Given the description of an element on the screen output the (x, y) to click on. 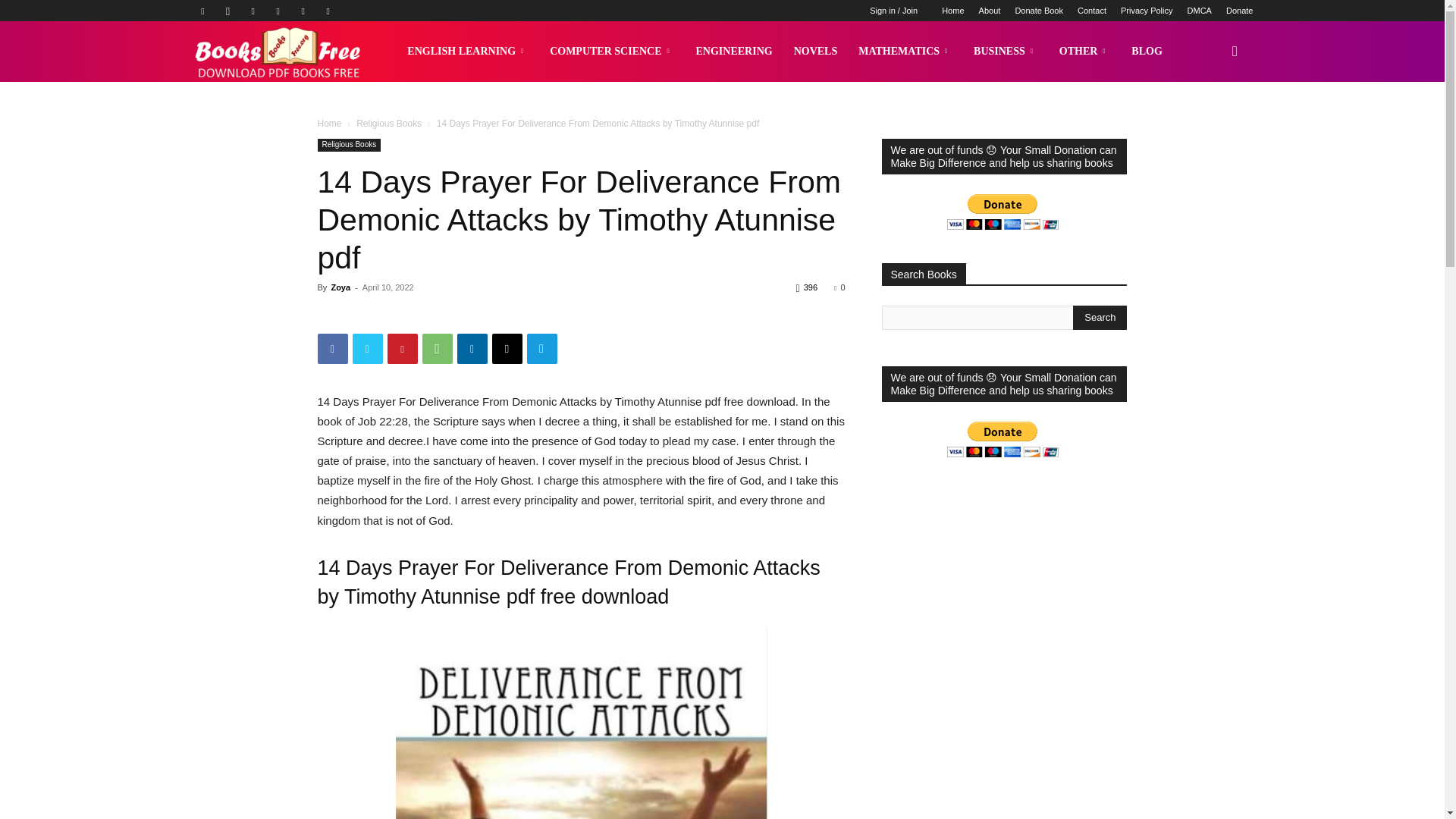
Facebook (202, 10)
Instagram (228, 10)
Search (1099, 317)
Pinterest (277, 10)
Youtube (328, 10)
Paypal (252, 10)
Twitter (303, 10)
